Given the description of an element on the screen output the (x, y) to click on. 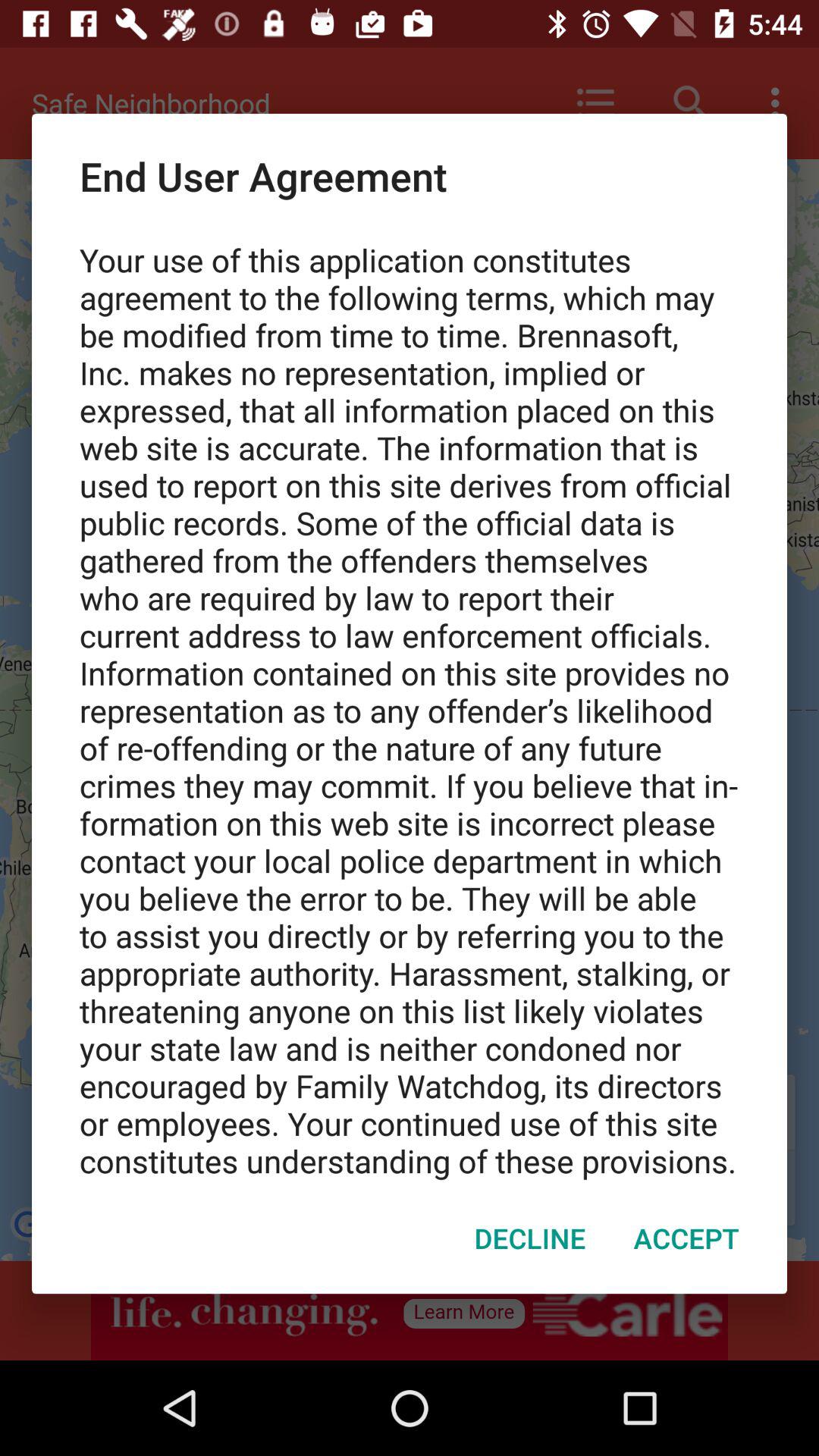
click the icon below the your use of (686, 1237)
